Given the description of an element on the screen output the (x, y) to click on. 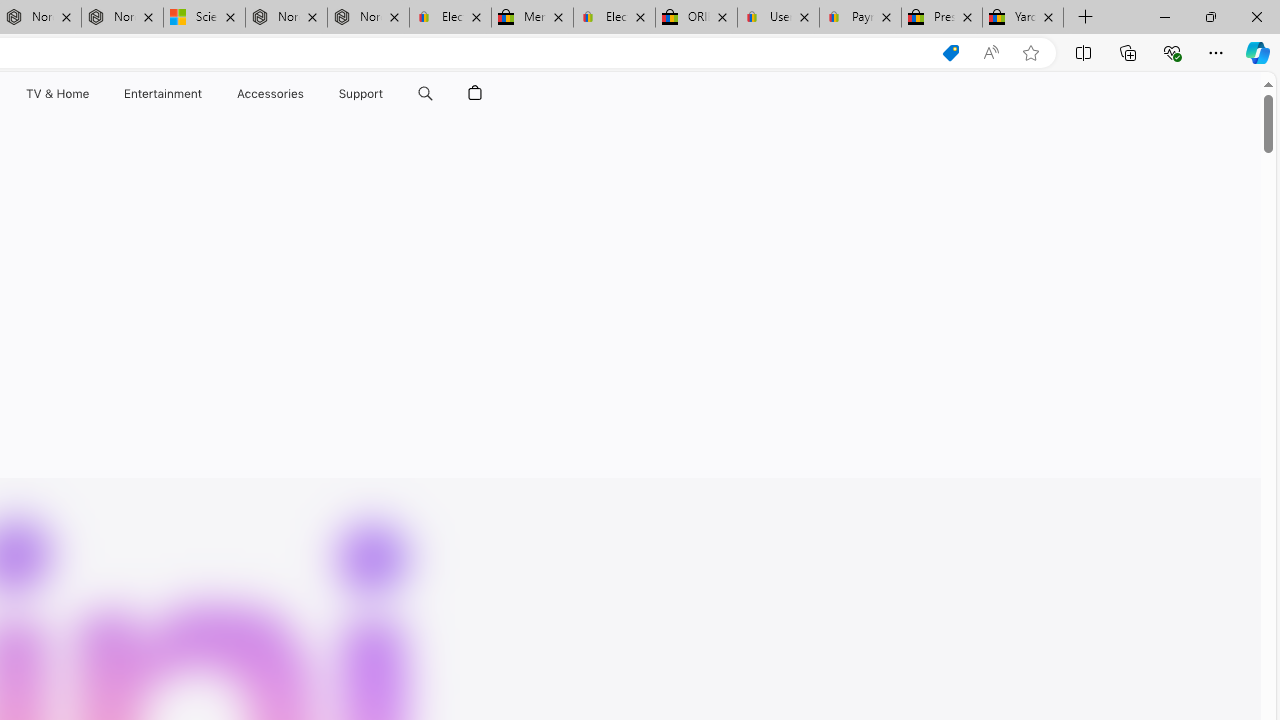
Shopping Bag (475, 93)
Accessories menu (306, 93)
Accessories (269, 93)
TV and Home (56, 93)
Class: globalnav-submenu-trigger-item (387, 93)
